Given the description of an element on the screen output the (x, y) to click on. 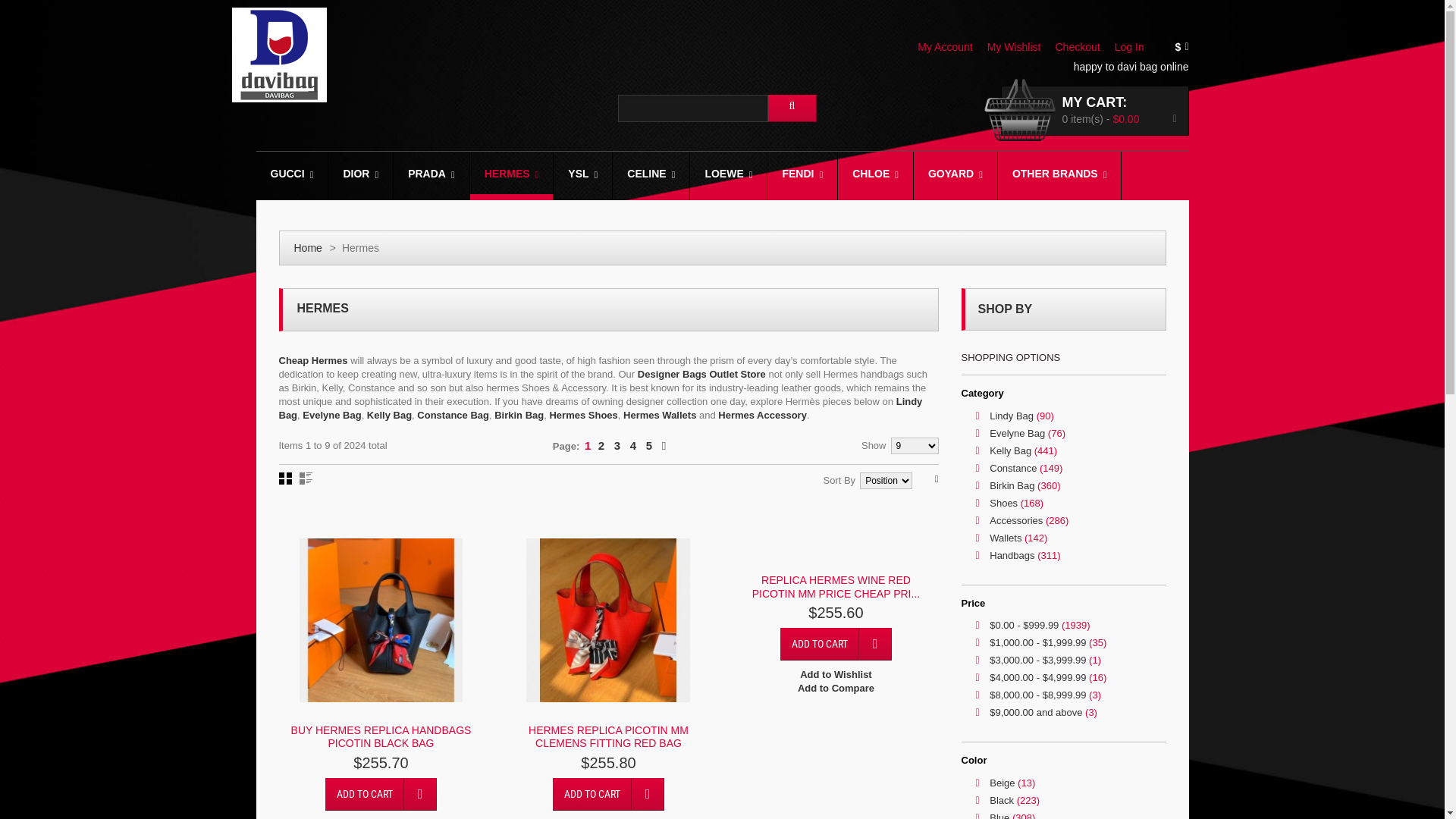
Hermes Replica Picotin Mm Clemens Fitting Red Bag Element type: hover (607, 619)
My Wishlist Element type: text (1019, 46)
4 Element type: text (632, 445)
List Element type: text (304, 478)
daviwholesale Element type: hover (279, 54)
BUY HERMES REPLICA HANDBAGS PICOTIN BLACK BAG Element type: text (381, 586)
2 Element type: text (601, 445)
FENDI Element type: text (802, 175)
Hermes Wallets Element type: text (659, 414)
Buy Hermes Replica Handbags Picotin Black Bag Element type: hover (380, 544)
Home Element type: text (308, 247)
YSL Element type: text (582, 175)
PRADA Element type: text (431, 175)
Search Element type: hover (791, 108)
My Account Element type: text (950, 46)
Add to Compare Element type: text (380, 687)
CHLOE Element type: text (875, 175)
Evelyne Bag Element type: text (331, 414)
GUCCI Element type: text (297, 175)
ADD TO CART Element type: text (608, 794)
5 Element type: text (648, 445)
Birkin Bag Element type: text (518, 414)
Kelly Bag Element type: text (389, 414)
GOYARD Element type: text (955, 175)
Set Descending Direction Element type: hover (936, 478)
Cheap Hermes Element type: text (313, 360)
Designer Bags Outlet Store Element type: text (701, 373)
Hermes Accessory Element type: text (762, 414)
3 Element type: text (616, 445)
HERMES REPLICA PICOTIN MM CLEMENS FITTING RED BAG Element type: text (608, 736)
Add to Wishlist Element type: text (381, 674)
Next Element type: hover (663, 446)
Hermes Shoes Element type: text (583, 414)
Replica Hermes Wine Red Picotin MM price cheap price Element type: hover (835, 544)
ADD TO CART Element type: text (380, 643)
Checkout Element type: text (1082, 46)
$ Element type: text (1187, 47)
LOEWE Element type: text (728, 175)
Lindy Bag Element type: text (600, 407)
DIOR Element type: text (366, 175)
CELINE Element type: text (650, 175)
Constance Bag Element type: text (453, 414)
Log In Element type: text (1134, 46)
OTHER BRANDS Element type: text (1059, 175)
HERMES Element type: text (511, 175)
